Given the description of an element on the screen output the (x, y) to click on. 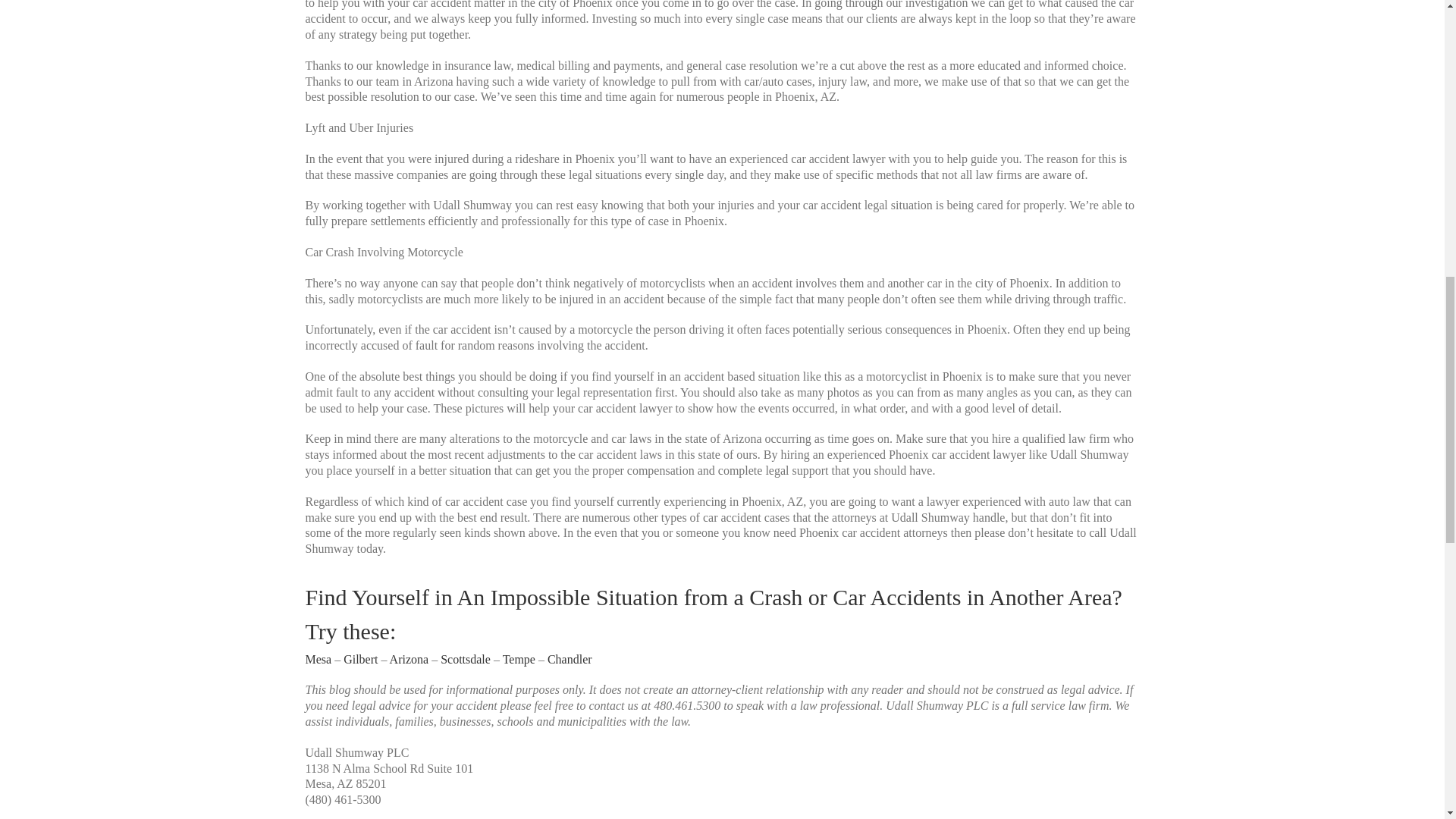
Mesa (317, 658)
Tempe (518, 658)
Arizona (409, 658)
Gilbert (360, 658)
Scottsdale (465, 658)
Chandler (569, 658)
